Given the description of an element on the screen output the (x, y) to click on. 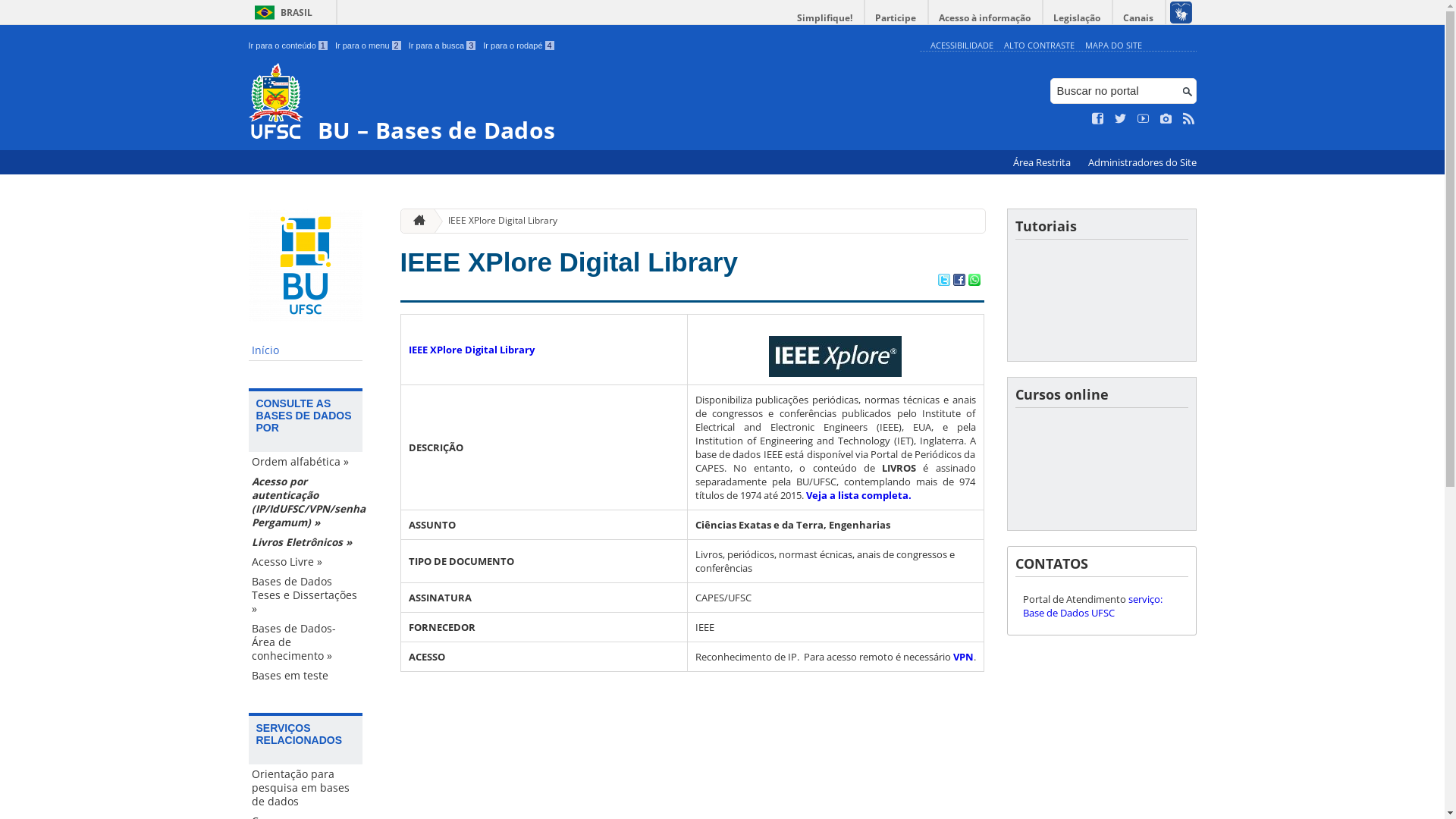
Ir para a busca 3 Element type: text (442, 45)
MAPA DO SITE Element type: text (1112, 44)
Simplifique! Element type: text (825, 18)
Siga no Twitter Element type: hover (1120, 118)
IEEE XPlore Digital Library Element type: text (568, 261)
Ir para o menu 2 Element type: text (368, 45)
Curta no Facebook Element type: hover (1098, 118)
Compartilhar no Facebook Element type: hover (958, 280)
Participe Element type: text (895, 18)
Bases em teste Element type: text (305, 675)
IEEE XPlore Digital Library Element type: text (470, 349)
Compartilhar no Twitter Element type: hover (943, 280)
IEEE XPlore Digital Library Element type: text (496, 220)
Veja a lista completa. Element type: text (857, 495)
Compartilhar no WhatsApp Element type: hover (973, 280)
Administradores do Site Element type: text (1141, 162)
ALTO CONTRASTE Element type: text (1039, 44)
Canais Element type: text (1138, 18)
ACESSIBILIDADE Element type: text (960, 44)
VPN Element type: text (962, 656)
Veja no Instagram Element type: hover (1166, 118)
BRASIL Element type: text (280, 12)
